Given the description of an element on the screen output the (x, y) to click on. 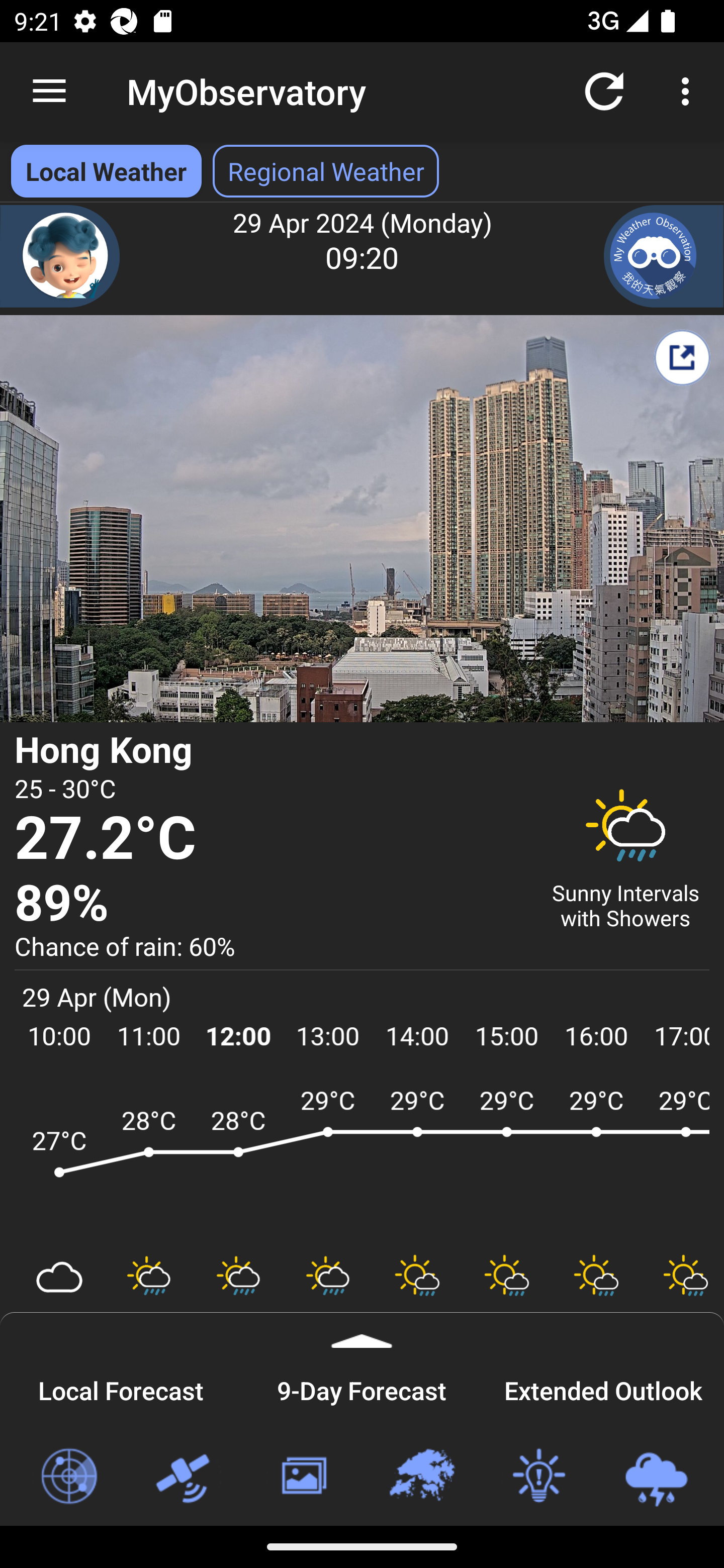
Navigate up (49, 91)
Refresh (604, 90)
More options (688, 90)
Local Weather Local Weather selected (105, 170)
Regional Weather Select Regional Weather (325, 170)
Chatbot (60, 256)
My Weather Observation (663, 256)
Share My Weather Report (681, 357)
27.2°C Temperature
27.2 degree Celsius (270, 839)
89% Relative Humidity
89 percent (270, 903)
ARWF (361, 1160)
Expand (362, 1330)
Local Forecast (120, 1387)
Extended Outlook (603, 1387)
Radar Images (68, 1476)
Satellite Images (185, 1476)
Weather Photos (302, 1476)
Regional Weather (420, 1476)
Weather Tips (537, 1476)
Loc-based Rain & Lightning Forecast (655, 1476)
